Given the description of an element on the screen output the (x, y) to click on. 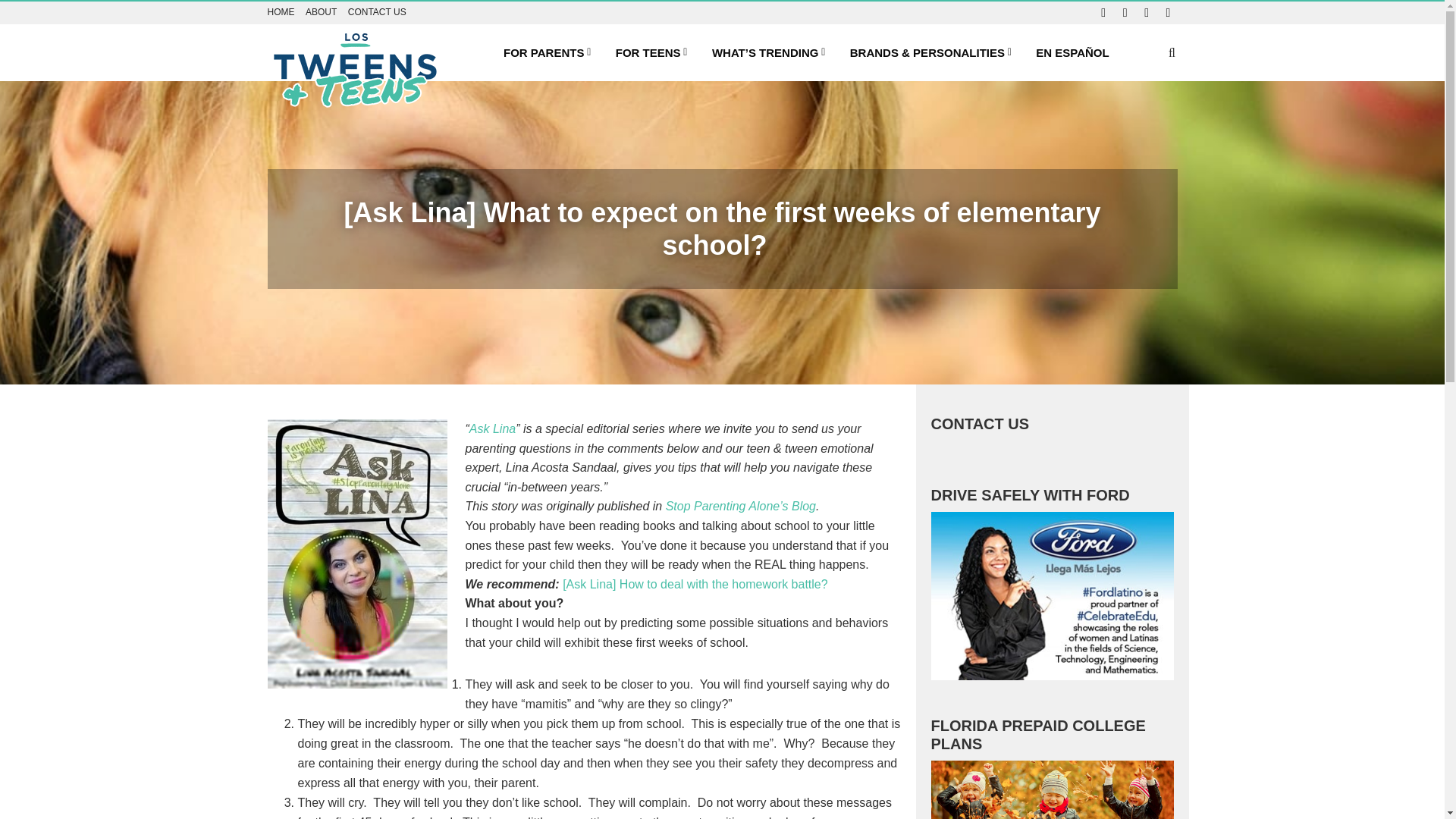
ABOUT (320, 11)
Lostweens Instagram (1146, 11)
HOME (280, 11)
Lostweens Twitter (1125, 11)
FOR PARENTS (547, 52)
Lostweens Youtube (1167, 11)
Lostweens Facebook (1103, 11)
CONTACT US (376, 11)
